Given the description of an element on the screen output the (x, y) to click on. 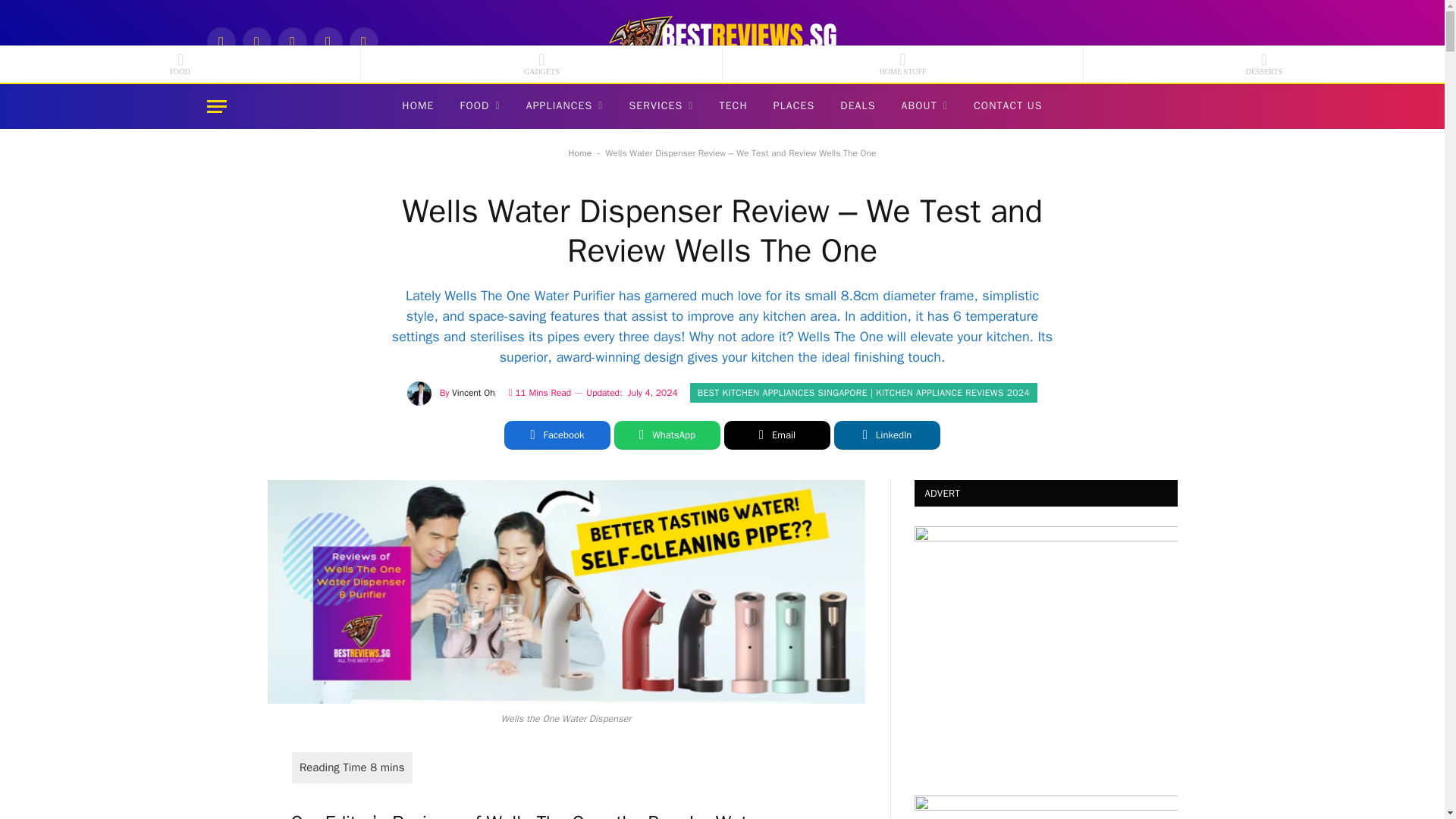
BestReviews.sg (721, 41)
APPLIANCES (564, 105)
Facebook (220, 41)
Telegram (328, 41)
FOOD (479, 105)
Instagram (256, 41)
HOME (417, 105)
YouTube (363, 41)
